Given the description of an element on the screen output the (x, y) to click on. 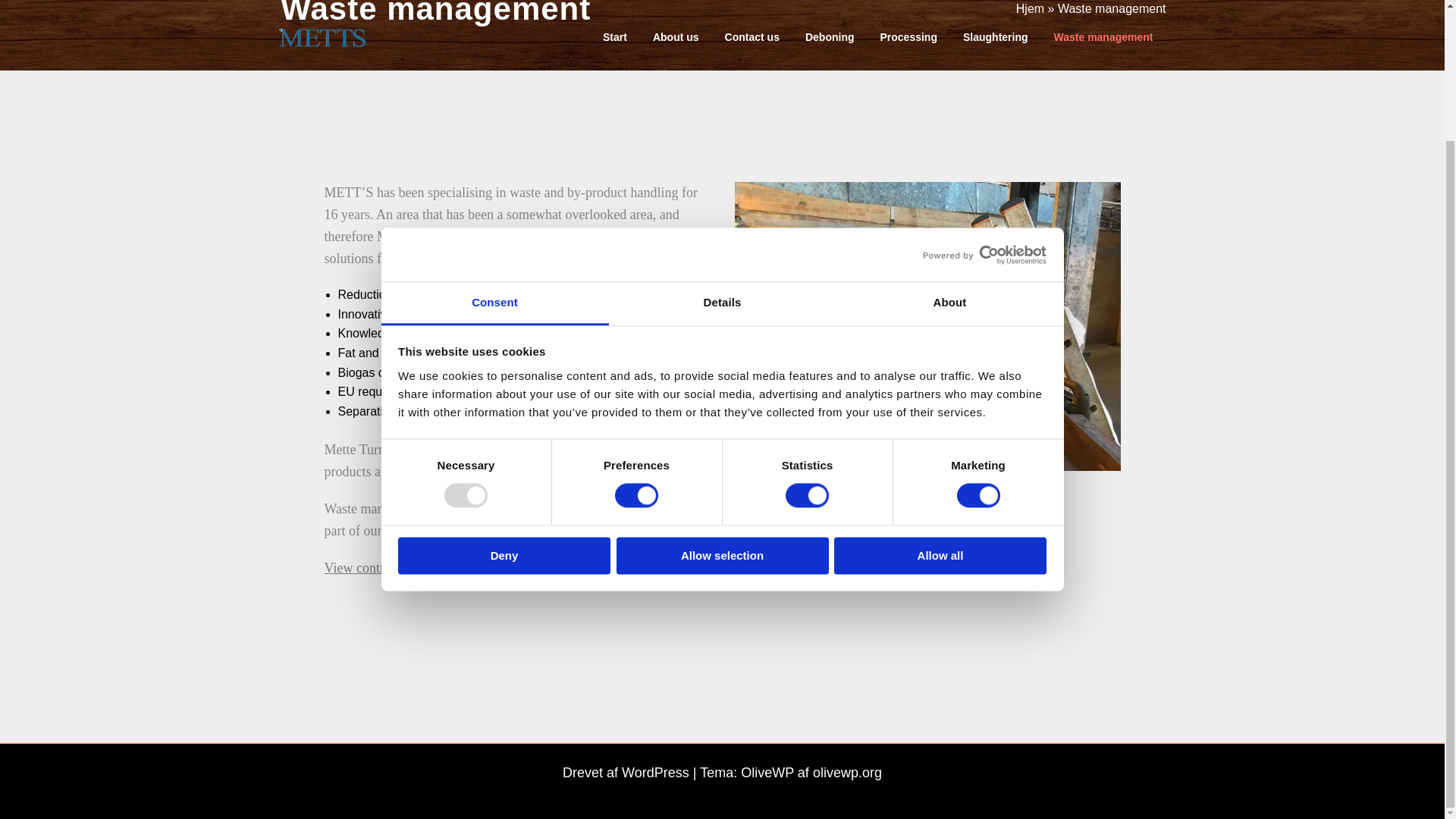
Deny (503, 395)
Allow all (940, 395)
Hjem (1029, 7)
Details (721, 144)
Consent (494, 144)
About (948, 144)
Allow selection (721, 395)
